Given the description of an element on the screen output the (x, y) to click on. 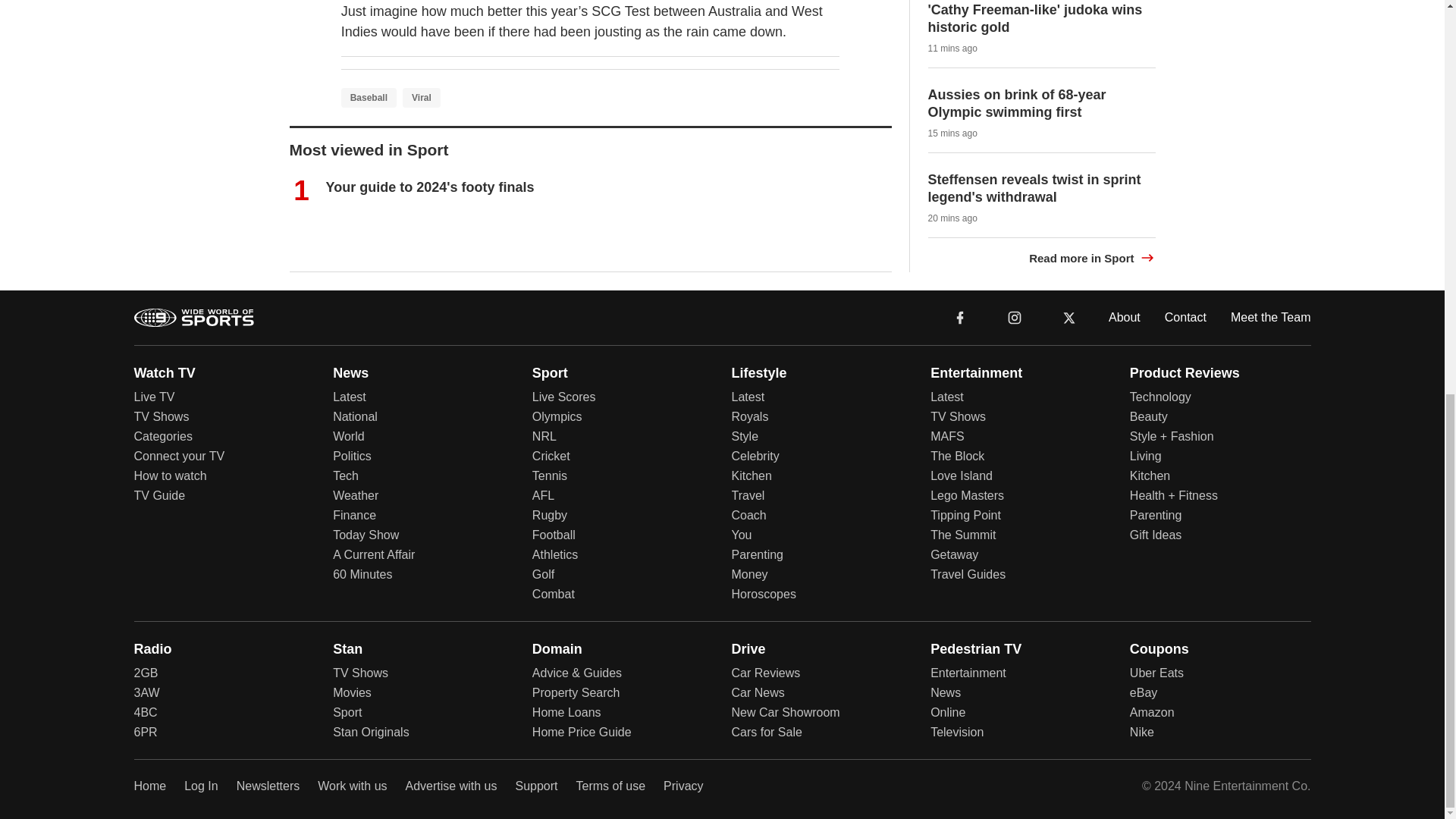
Watch TV (164, 372)
TV Shows (161, 416)
About (1124, 316)
Meet the Team (1270, 316)
Your guide to 2024's footy finals (430, 186)
instagram (1014, 317)
instagram (1013, 316)
Contact (1185, 316)
facebook (959, 316)
facebook (960, 317)
x (1069, 317)
x (1069, 316)
instagram (1013, 316)
Viral (422, 97)
x (1069, 316)
